Given the description of an element on the screen output the (x, y) to click on. 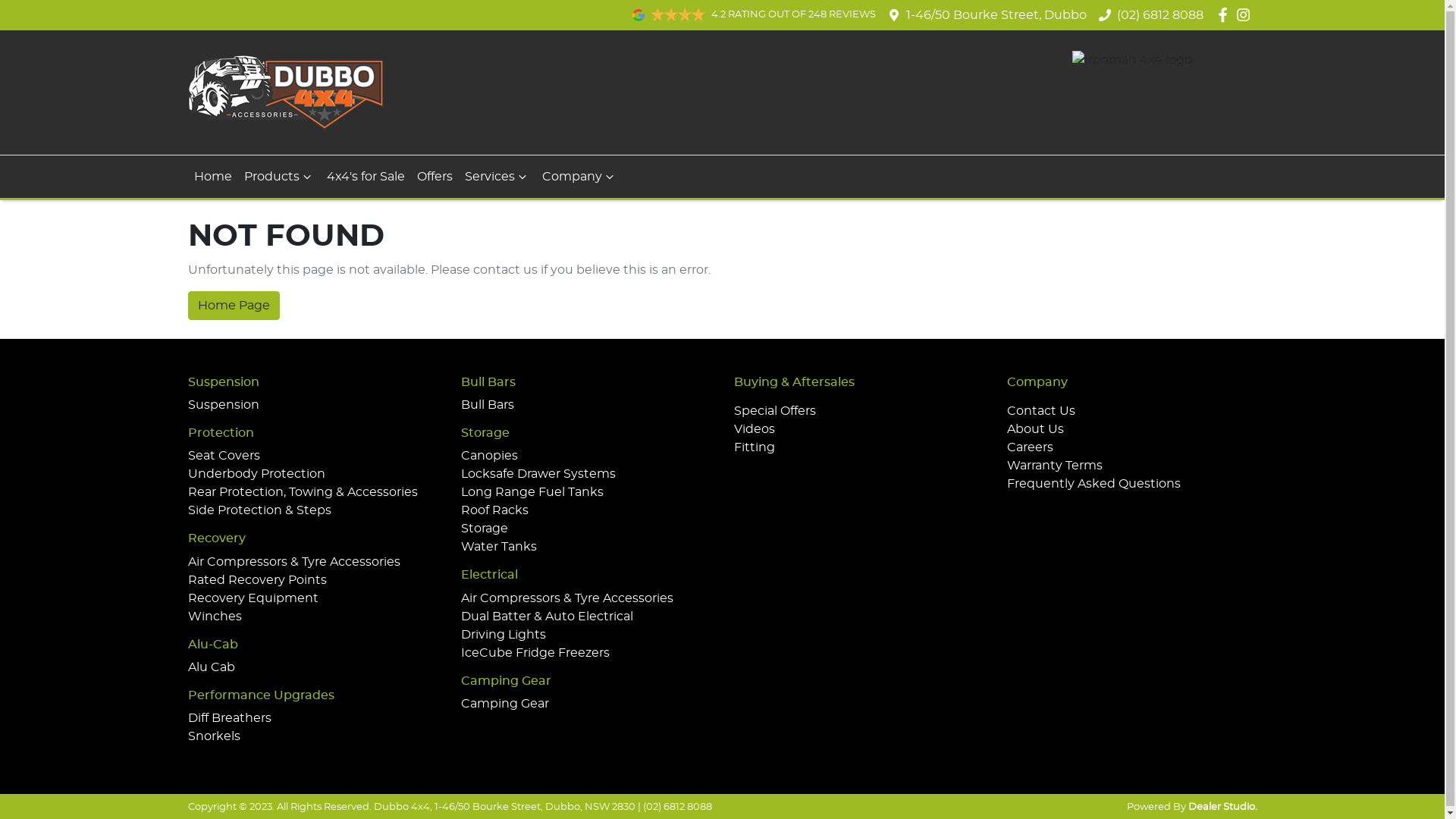
(02) 6812 8088 Element type: text (1160, 15)
Alu Cab Element type: text (211, 667)
Seat Covers Element type: text (224, 455)
Suspension Element type: text (223, 404)
Frequently Asked Questions Element type: text (1093, 483)
Careers Element type: text (1030, 447)
Special Offers Element type: text (774, 410)
Home Element type: text (213, 176)
Side Protection & Steps Element type: text (259, 510)
Warranty Terms Element type: text (1054, 465)
Air Compressors & Tyre Accessories Element type: text (567, 598)
Rear Protection, Towing & Accessories Element type: text (302, 492)
About Us Element type: text (1035, 429)
Products Element type: text (279, 176)
Camping Gear Element type: text (505, 703)
Offers Element type: text (434, 176)
1-46/50 Bourke Street, Dubbo Element type: text (996, 15)
Company Element type: text (578, 176)
Diff Breathers Element type: text (229, 718)
Snorkels Element type: text (214, 736)
Home Page Element type: text (233, 305)
Underbody Protection Element type: text (256, 473)
Driving Lights Element type: text (503, 634)
4x4's for Sale Element type: text (365, 176)
Recovery Equipment Element type: text (253, 598)
IceCube Fridge Freezers Element type: text (535, 652)
Dealer Studio. Element type: text (1221, 807)
Videos Element type: text (754, 429)
Water Tanks Element type: text (498, 546)
Air Compressors & Tyre Accessories Element type: text (294, 561)
Locksafe Drawer Systems Element type: text (538, 473)
Bull Bars Element type: text (487, 404)
Dual Batter & Auto Electrical Element type: text (547, 616)
Winches Element type: text (214, 616)
Roof Racks Element type: text (494, 510)
Services Element type: text (496, 176)
Storage Element type: text (484, 528)
Fitting Element type: text (754, 447)
Long Range Fuel Tanks Element type: text (532, 492)
Rated Recovery Points Element type: text (257, 580)
Canopies Element type: text (489, 455)
Contact Us Element type: text (1041, 410)
